Given the description of an element on the screen output the (x, y) to click on. 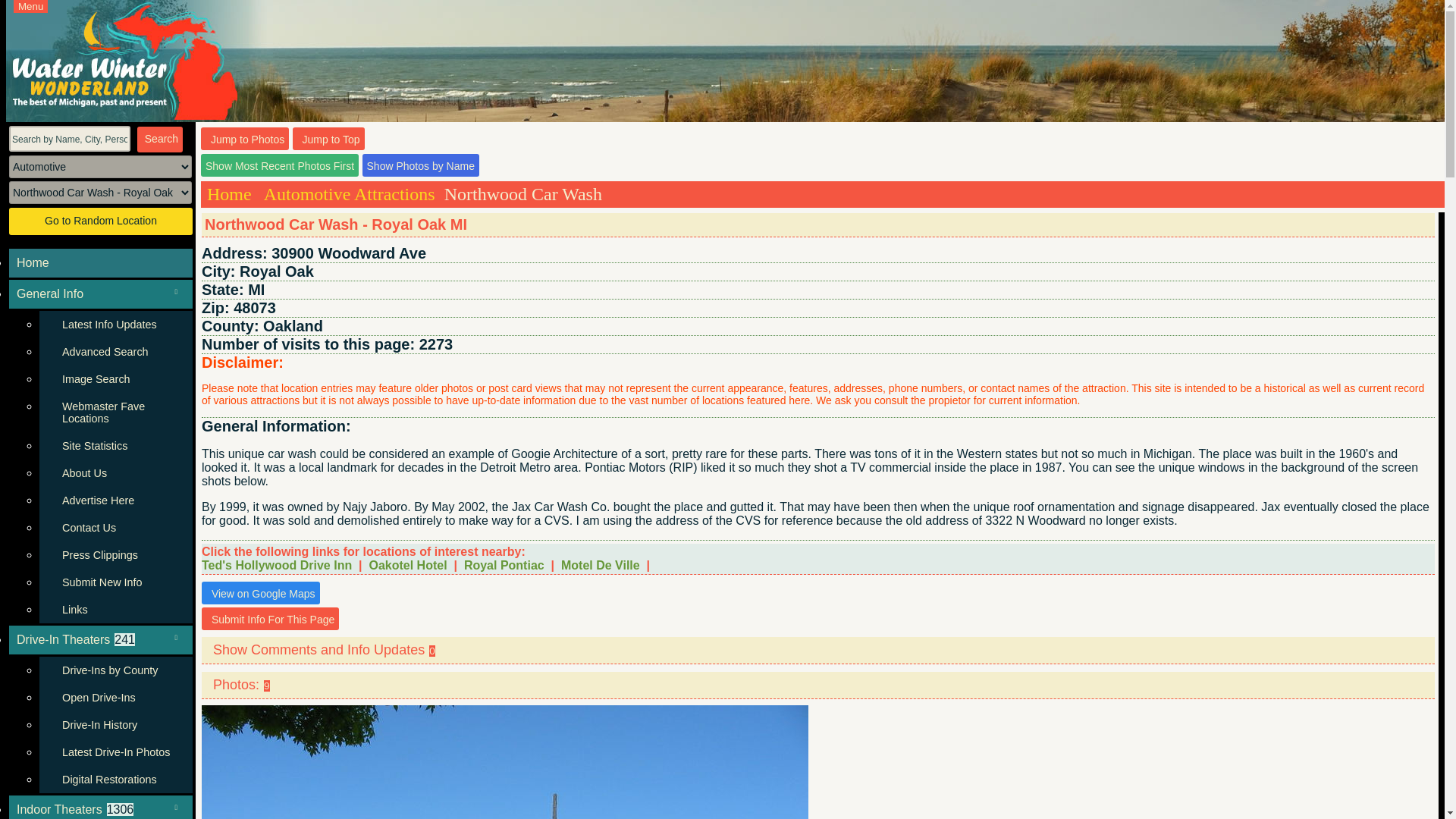
Advanced Search (115, 351)
About Us (115, 472)
Latest Info Updates (115, 324)
Submit New Info (115, 582)
Menu (30, 6)
Indoor Theaters1306 (100, 807)
Go to Random Location (100, 221)
Open Drive-Ins (115, 697)
General Info (100, 294)
Northwood Car Wash - May 2002 Photo (505, 762)
Digital Restorations (115, 779)
Links (115, 609)
Drive-Ins by County (115, 669)
Image Search (115, 379)
Latest Drive-In Photos (115, 751)
